Given the description of an element on the screen output the (x, y) to click on. 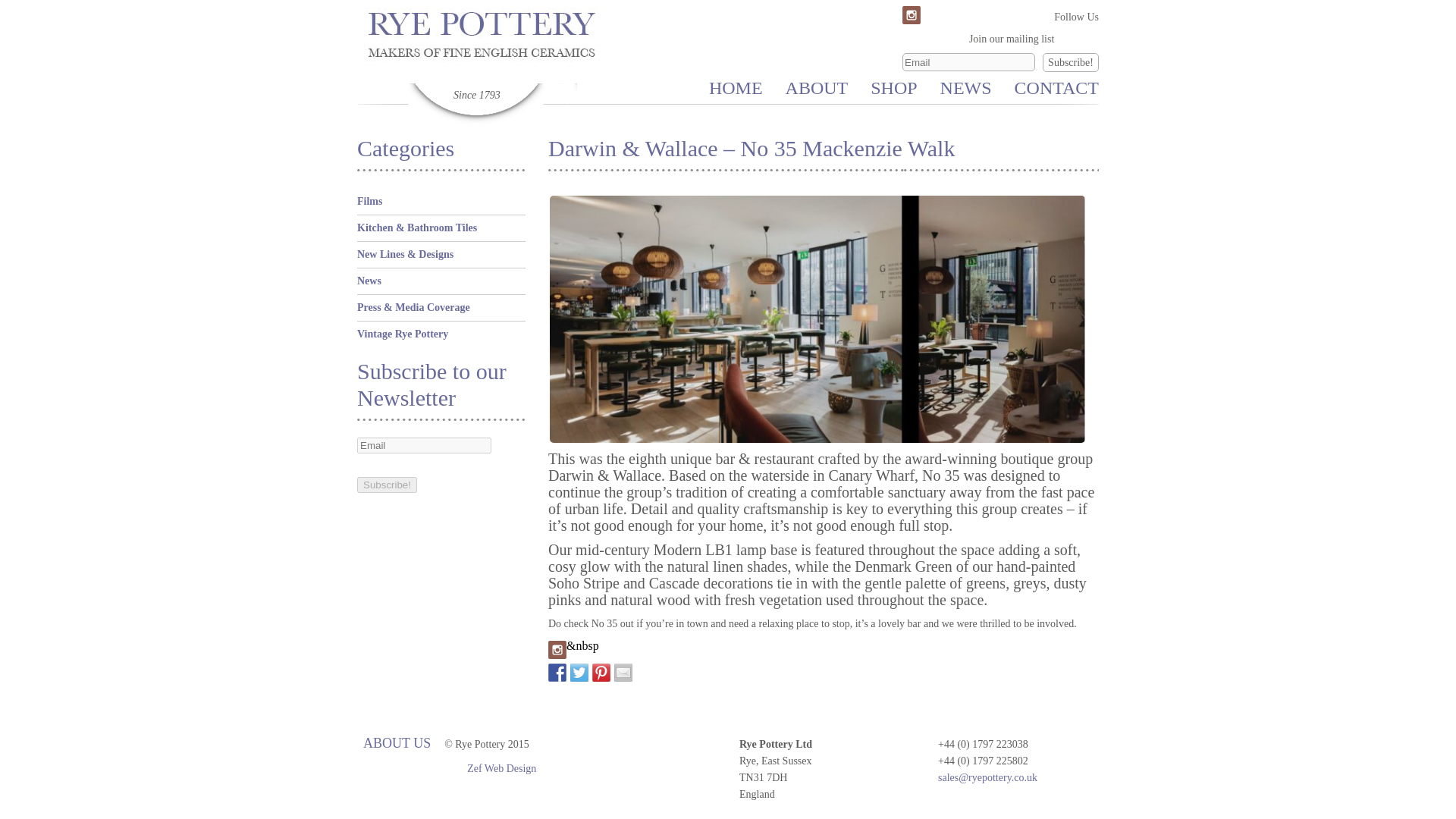
SHOP (893, 87)
Pin it with Pinterest (601, 672)
Share on Facebook (557, 672)
Check out our instagram feed (911, 14)
CONTACT (1056, 87)
Subscribe! (386, 484)
ABOUT US (396, 743)
Email (968, 62)
Vintage Rye Pottery (402, 333)
Subscribe! (386, 484)
Share on Twitter (579, 672)
Share by email (622, 672)
Check out our instagram feed (557, 649)
ABOUT (817, 87)
Subscribe! (1070, 62)
